Given the description of an element on the screen output the (x, y) to click on. 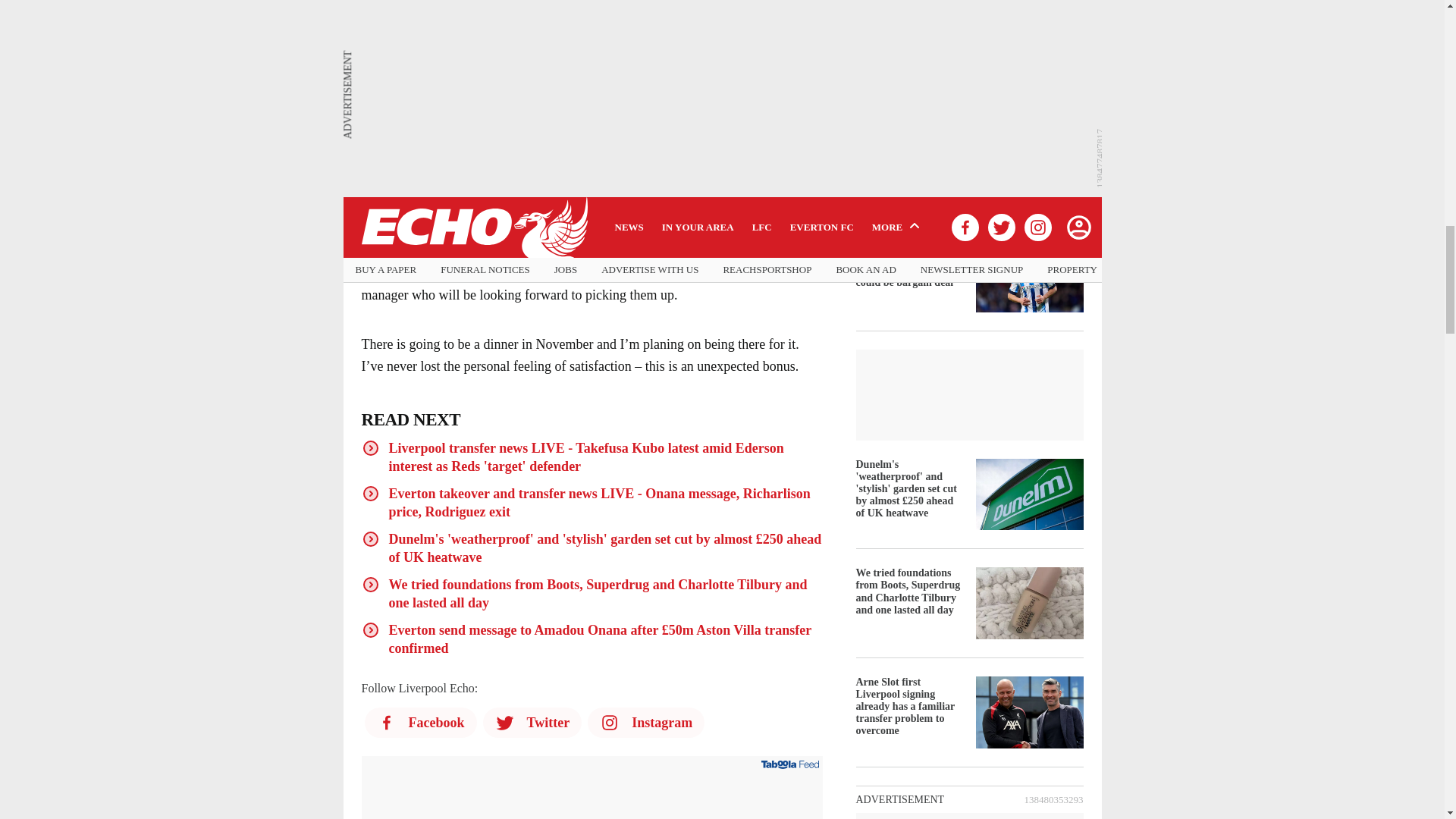
Write Better and Faster With This Desktop App (591, 800)
Read Next Article Icon (369, 584)
Read Next Article Icon (369, 447)
Read Next Article Icon (369, 538)
Read Next Article Icon (369, 493)
Read Next Article Icon (369, 629)
